Given the description of an element on the screen output the (x, y) to click on. 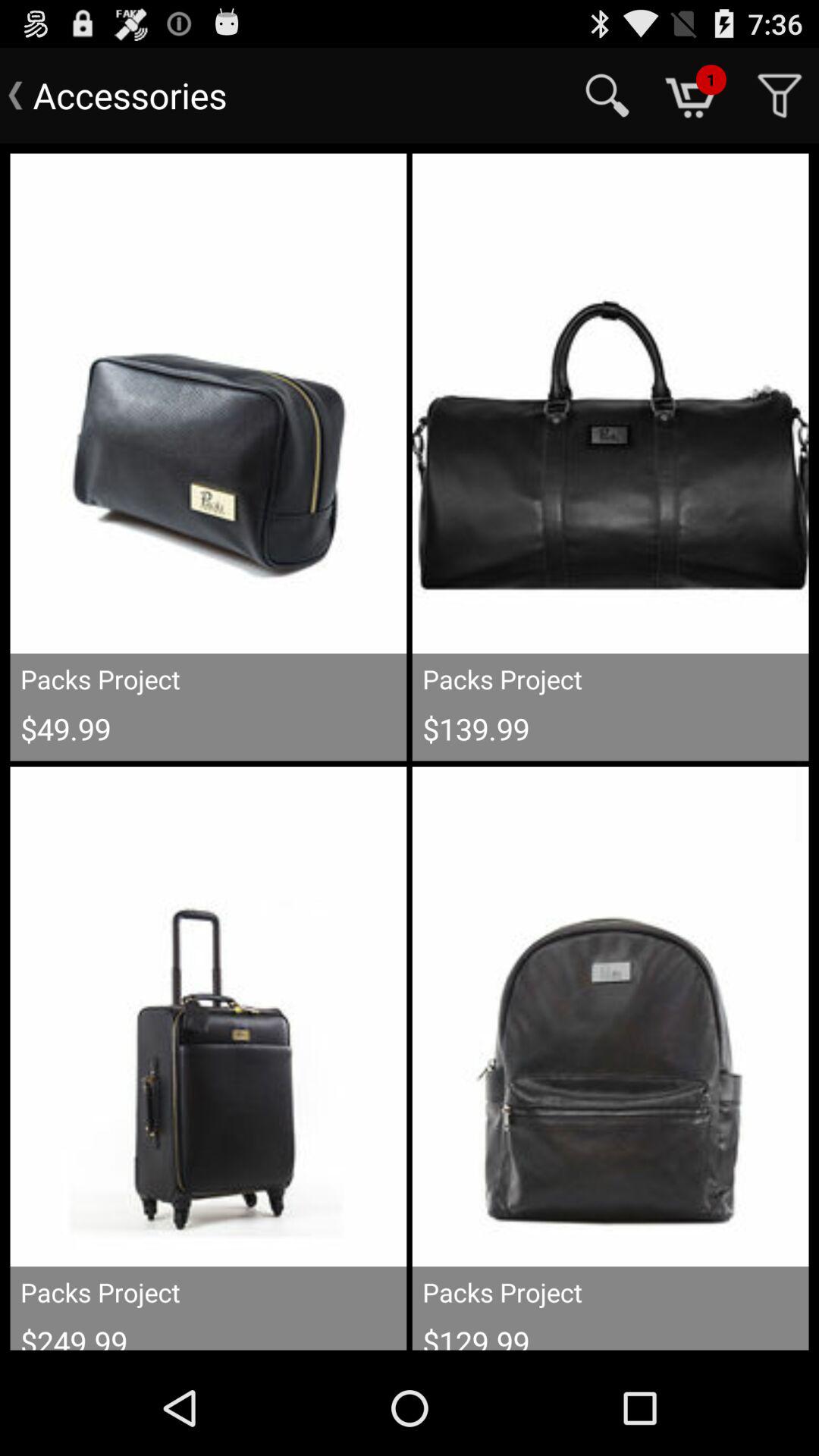
select the item to the right of accessories app (607, 95)
